Given the description of an element on the screen output the (x, y) to click on. 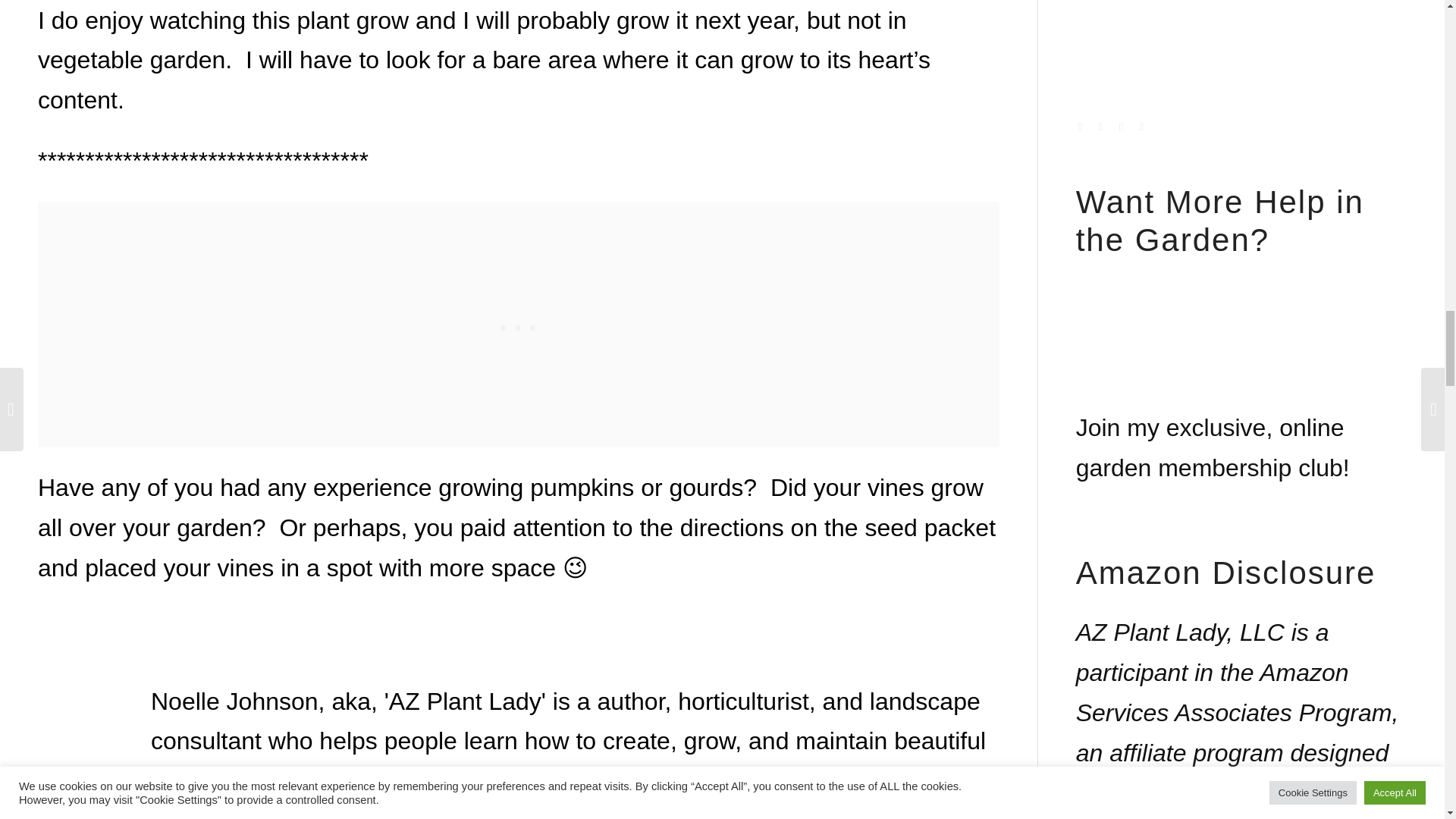
consulting services (150, 813)
Desert Gardening 101 (578, 813)
Want More Help in the Garden?  (1189, 366)
